Given the description of an element on the screen output the (x, y) to click on. 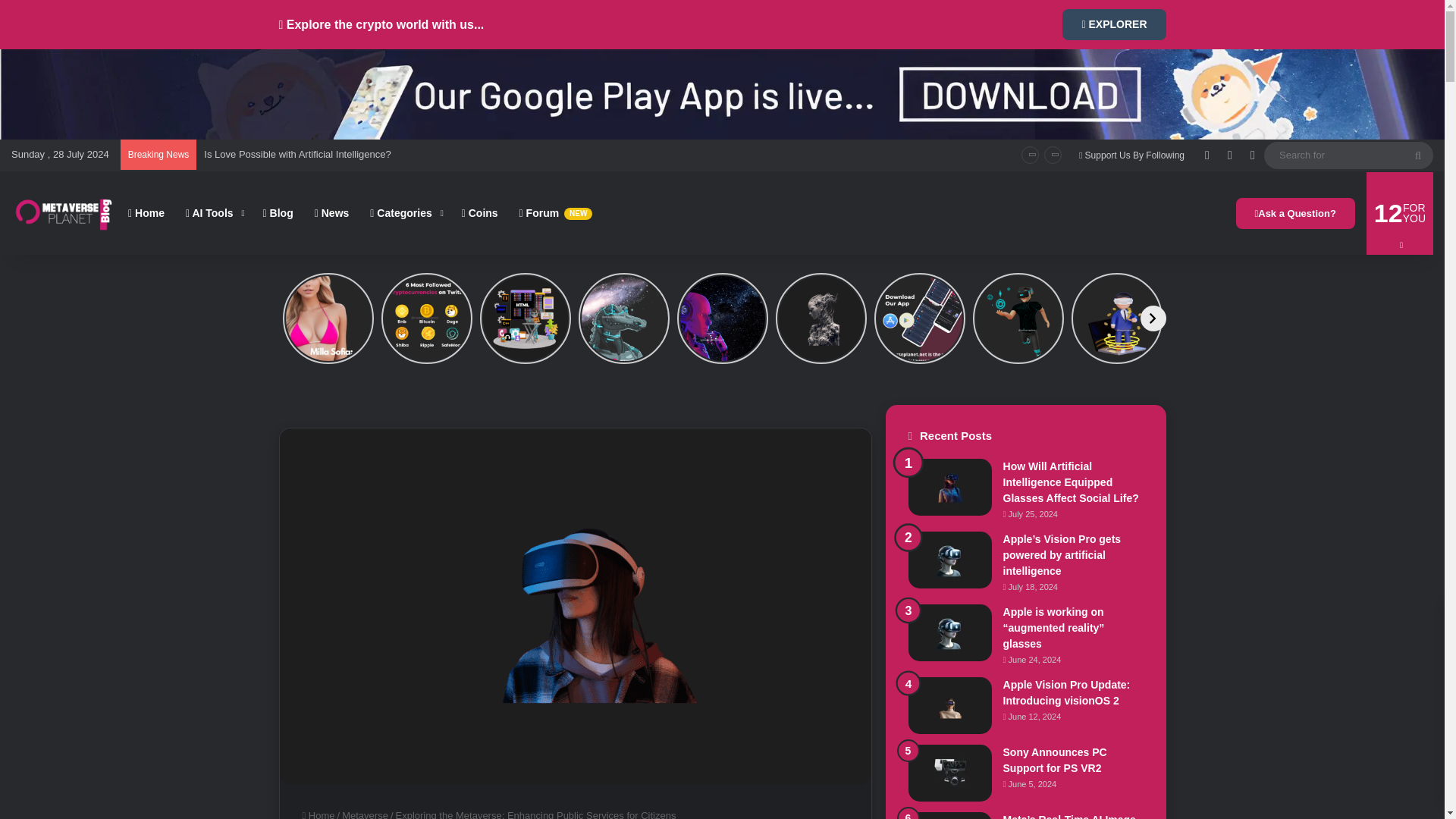
AI Tools (212, 212)
Search for (1347, 154)
Search for (1417, 154)
Support Us By Following (1131, 155)
Is Love Possible with Artificial Intelligence? (296, 153)
Metaverseplanet.net (64, 212)
